Given the description of an element on the screen output the (x, y) to click on. 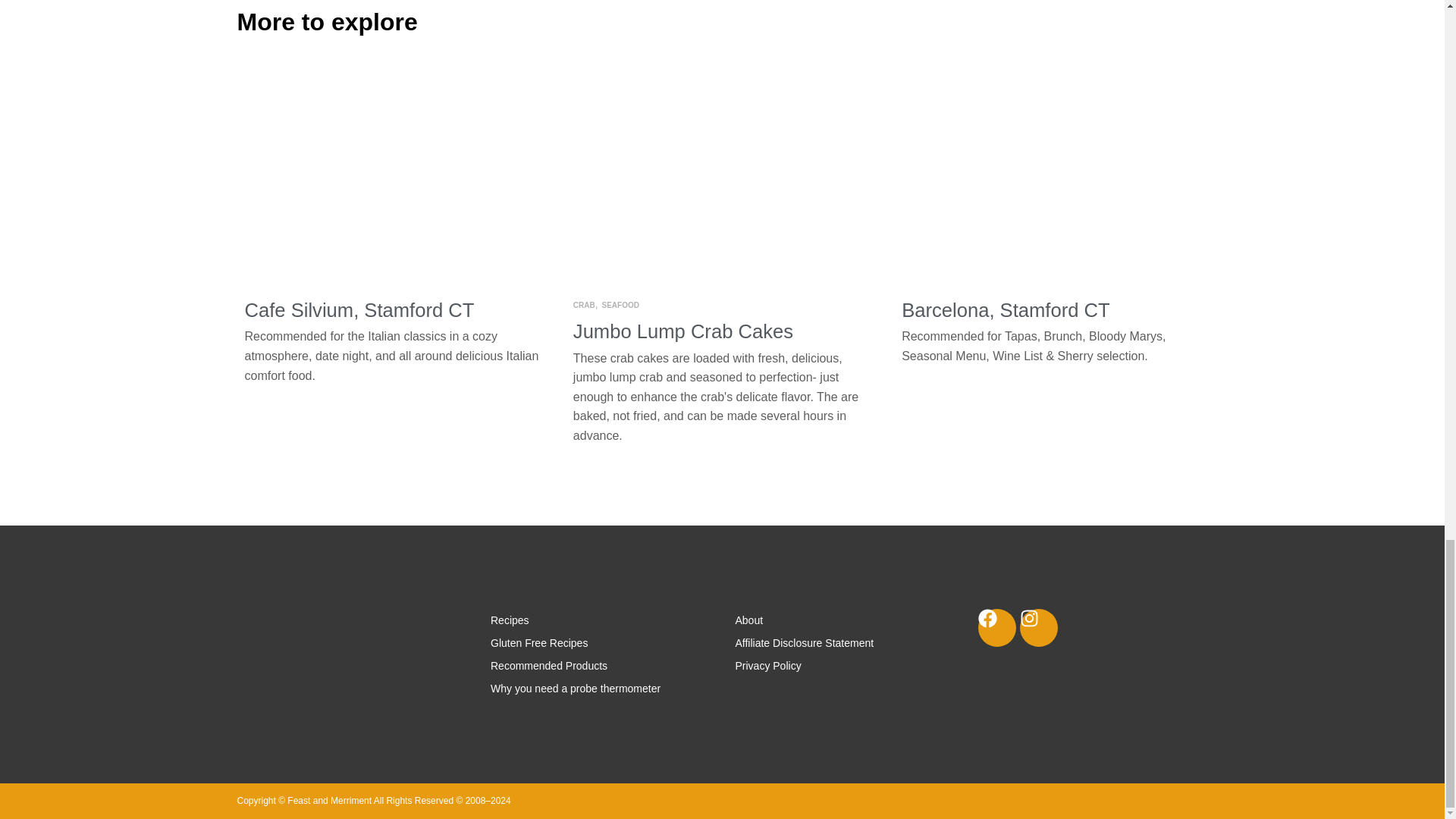
Lasagna Cafe Silvium, Stamford CT (392, 178)
jumbo lump crab cakes (721, 178)
